Given the description of an element on the screen output the (x, y) to click on. 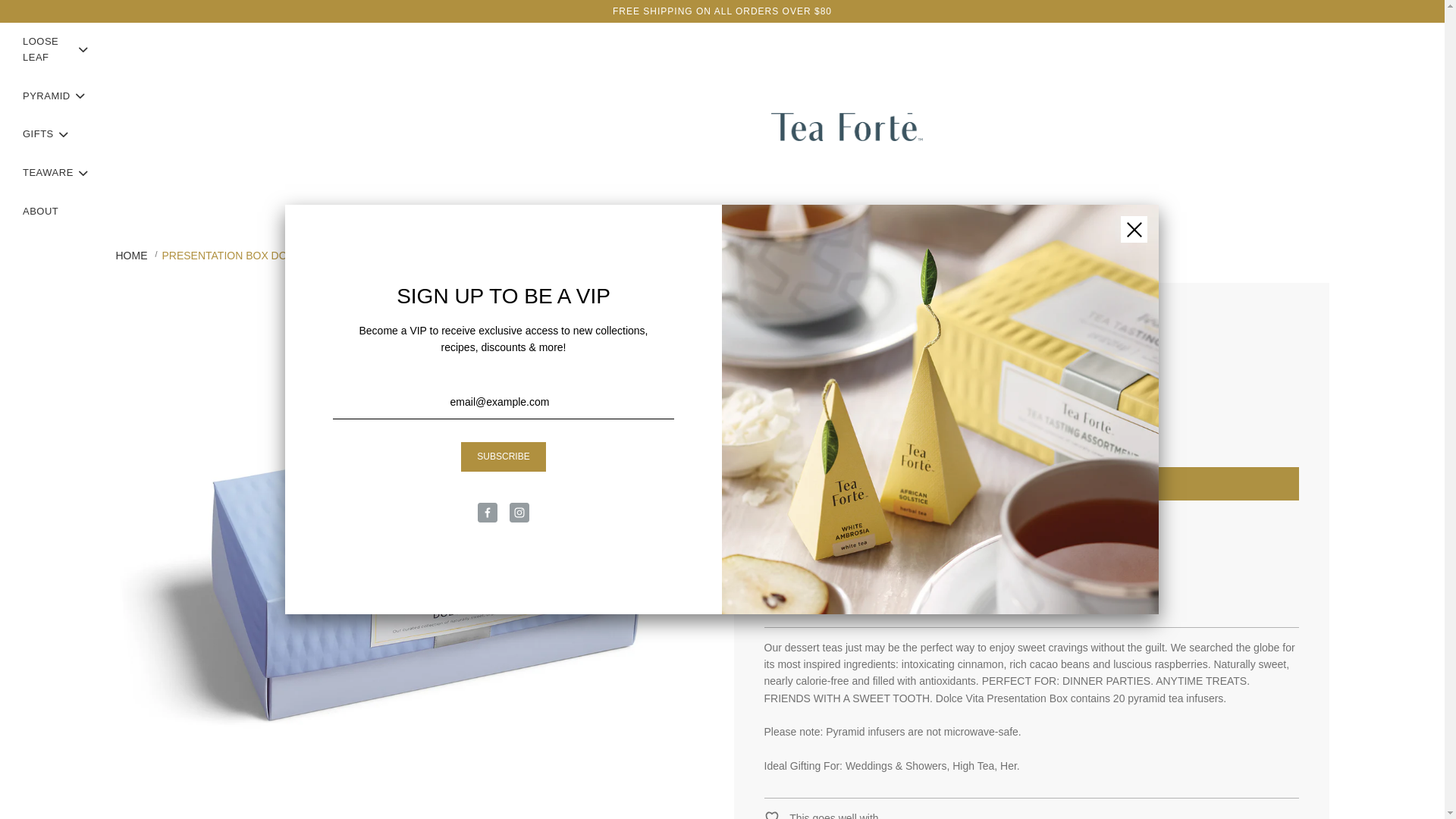
1 (796, 438)
Subscribe (502, 456)
